Given the description of an element on the screen output the (x, y) to click on. 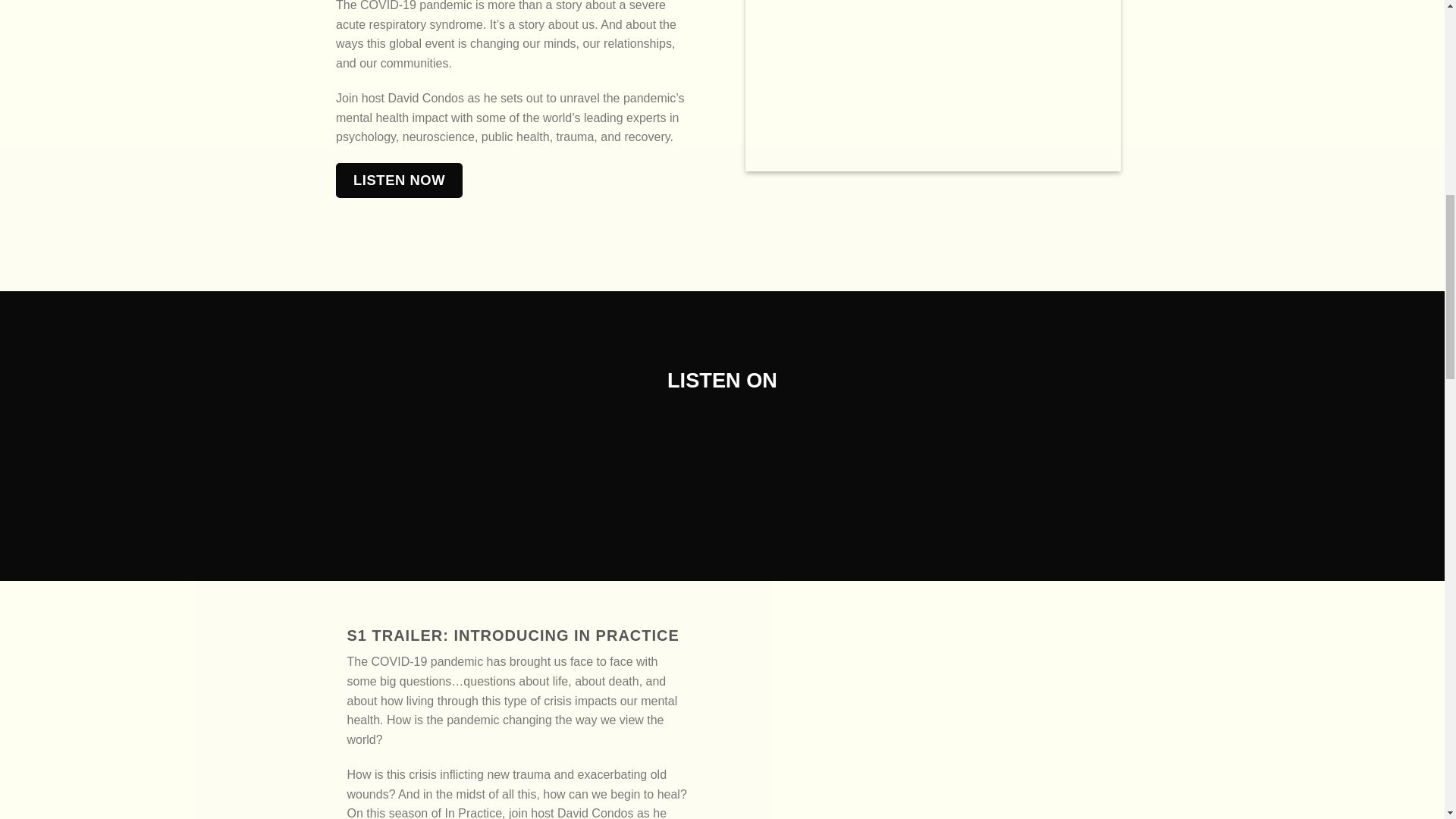
LISTEN NOW (397, 179)
IP - Teaser - Draft 2 (931, 85)
